Given the description of an element on the screen output the (x, y) to click on. 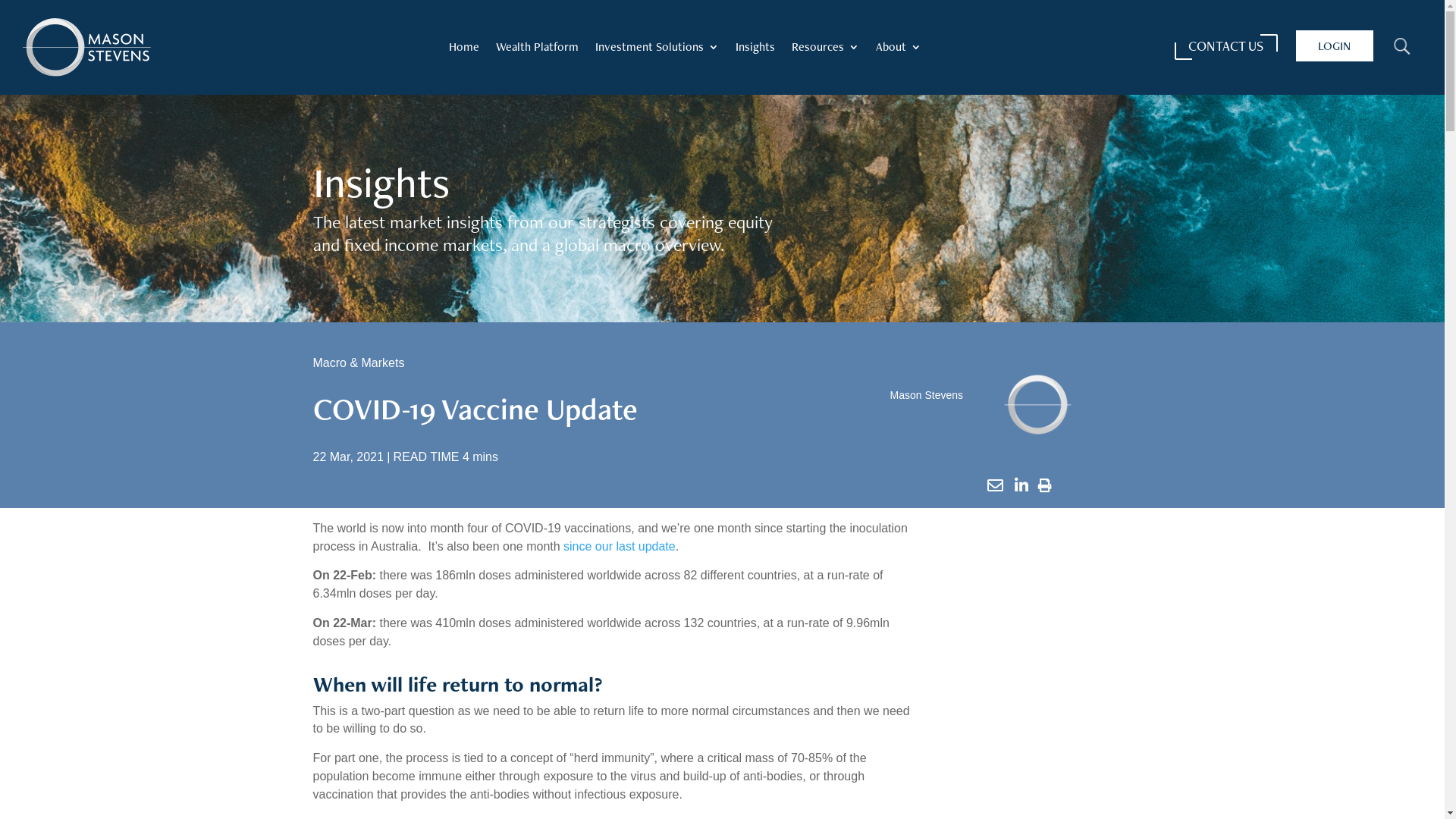
Resources Element type: text (825, 49)
CONTACT US Element type: text (1225, 46)
MS_logo Element type: hover (86, 47)
About Element type: text (898, 49)
Home Element type: text (463, 49)
Insights Element type: text (755, 49)
LOGIN Element type: text (1333, 45)
since our last update Element type: text (619, 545)
Wealth Platform Element type: text (536, 49)
Macro & Markets Element type: text (358, 362)
Investment Solutions Element type: text (656, 49)
